Given the description of an element on the screen output the (x, y) to click on. 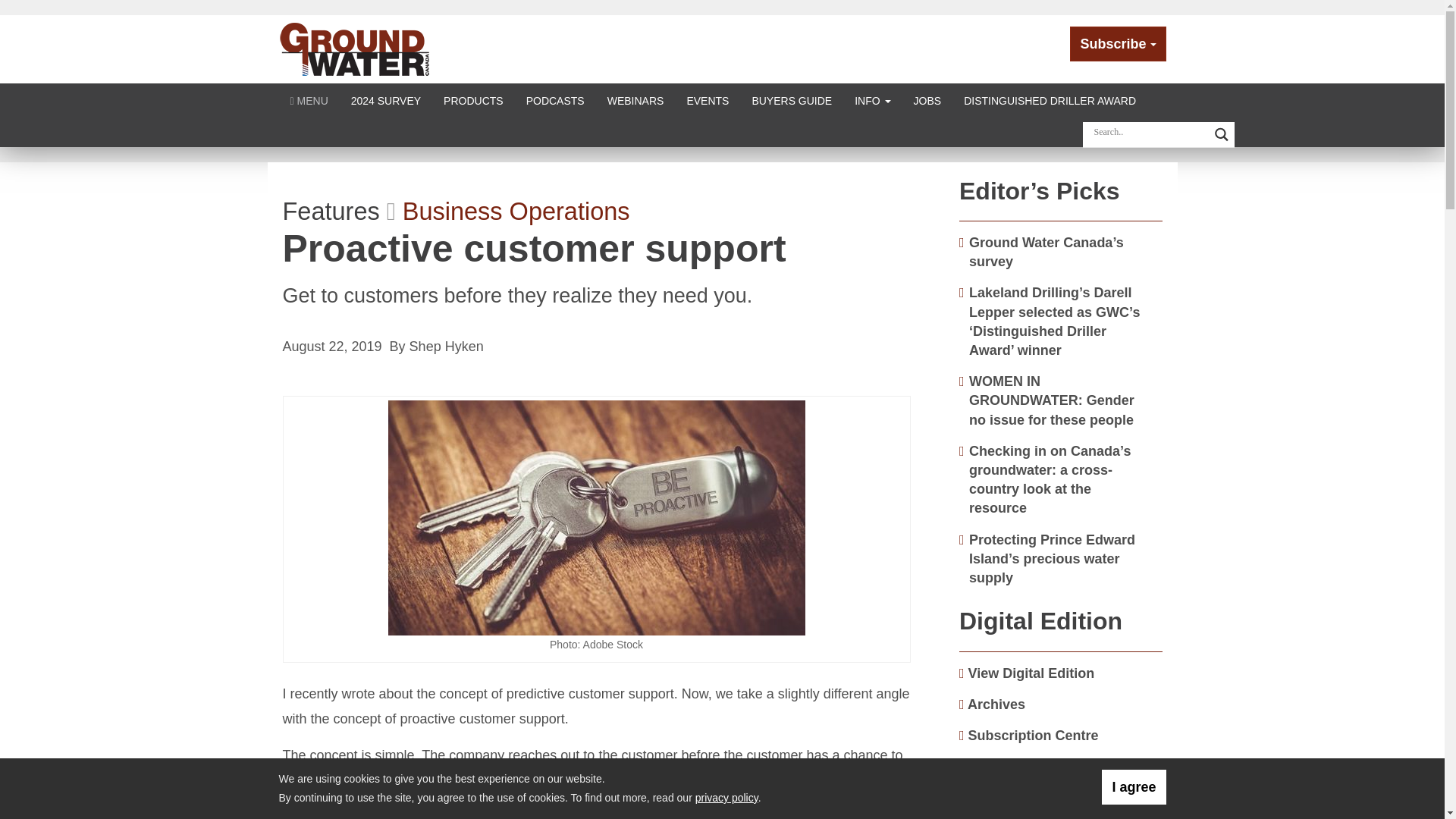
WEBINARS (635, 100)
JOBS (927, 100)
PODCASTS (555, 100)
INFO (872, 100)
BUYERS GUIDE (791, 100)
Ground Water Canada (354, 48)
Subscribe (1118, 43)
Click to show site navigation (309, 100)
EVENTS (707, 100)
2024 SURVEY (385, 100)
DISTINGUISHED DRILLER AWARD (1049, 100)
MENU (309, 100)
PRODUCTS (473, 100)
